Given the description of an element on the screen output the (x, y) to click on. 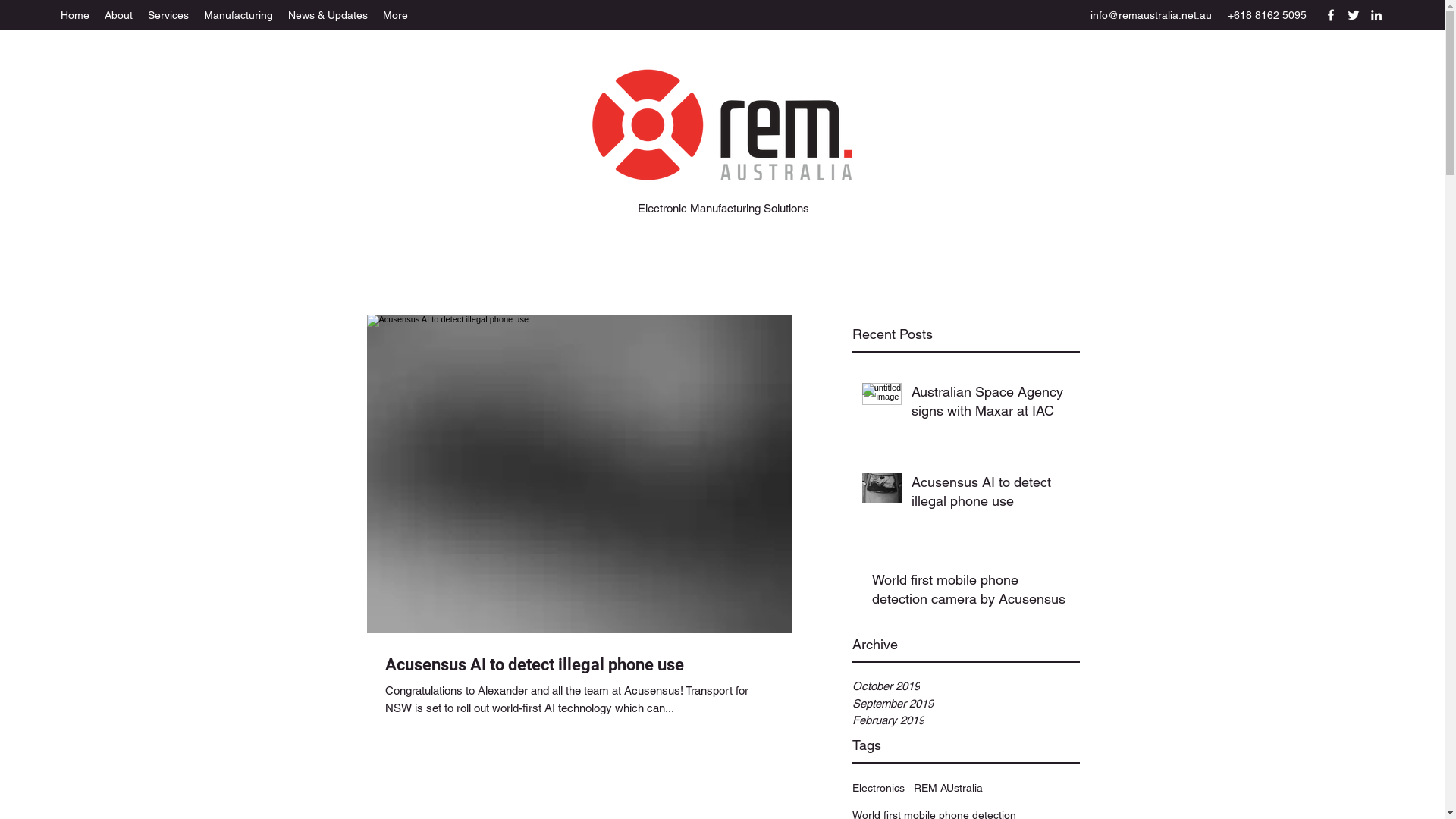
World first mobile phone detection camera by Acusensus Element type: text (971, 592)
October 2019 Element type: text (965, 686)
Services Element type: text (168, 14)
News & Updates Element type: text (327, 14)
REM AUstralia Element type: text (947, 787)
Home Element type: text (75, 14)
info@remaustralia.net.au Element type: text (1150, 15)
Acusensus AI to detect illegal phone use Element type: text (990, 494)
Acusensus AI to detect illegal phone use Element type: text (579, 664)
Manufacturing Element type: text (238, 14)
Electronics Element type: text (878, 787)
February 2019 Element type: text (965, 720)
September 2019 Element type: text (965, 703)
About Element type: text (118, 14)
Australian Space Agency signs with Maxar at IAC Element type: text (990, 404)
